Given the description of an element on the screen output the (x, y) to click on. 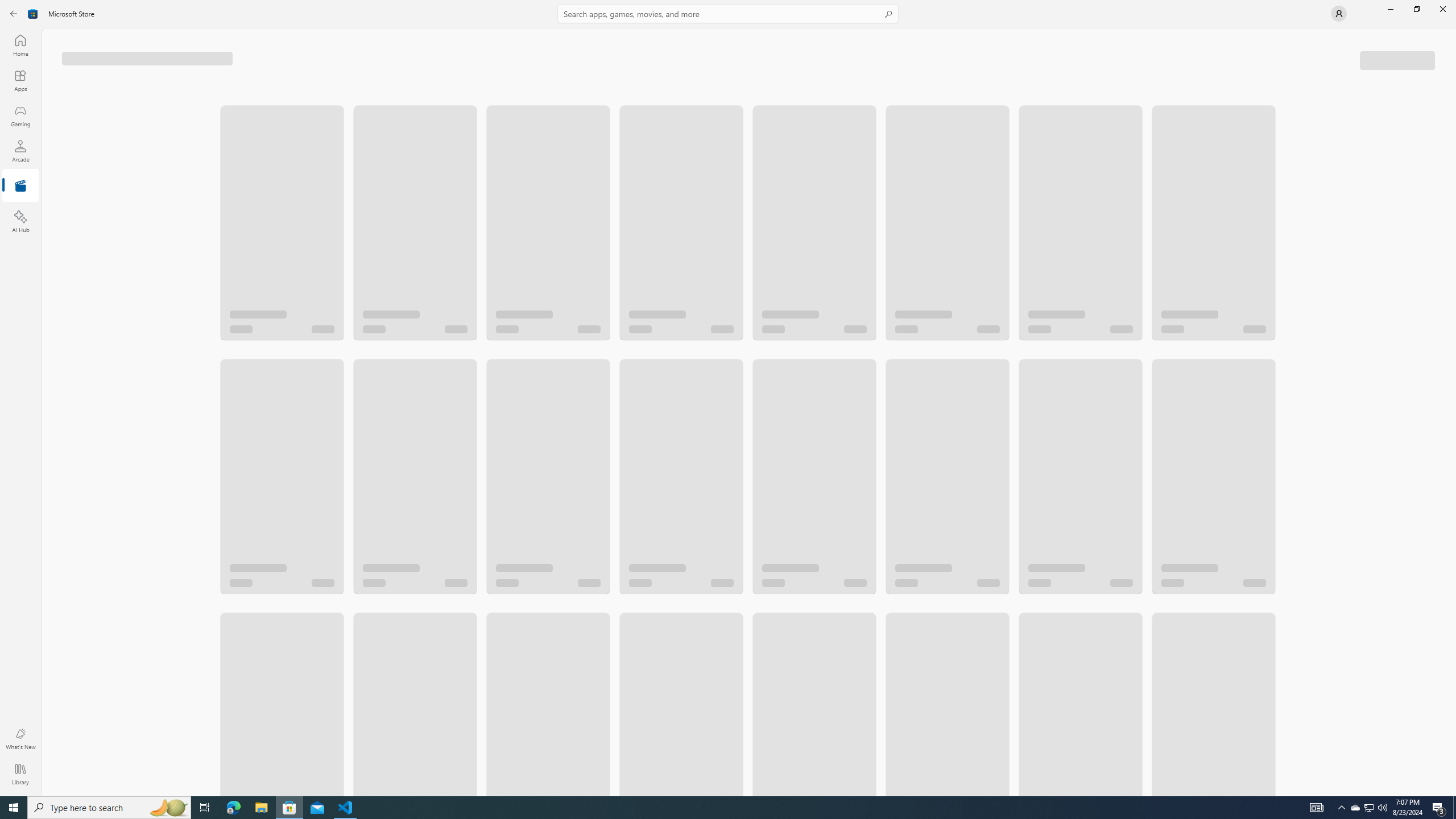
AutomationID: NavigationControl (728, 398)
Back (13, 13)
Jurassic World Ultimate Collection (1-6). Starts at $56.99   (548, 211)
Alien 4-Movie Collection. Starts at $49.99   (680, 444)
Vertical Large Increase (1452, 411)
Furiosa: A Mad Max Saga + Bonus Content. Starts at $19.99   (1079, 211)
